Given the description of an element on the screen output the (x, y) to click on. 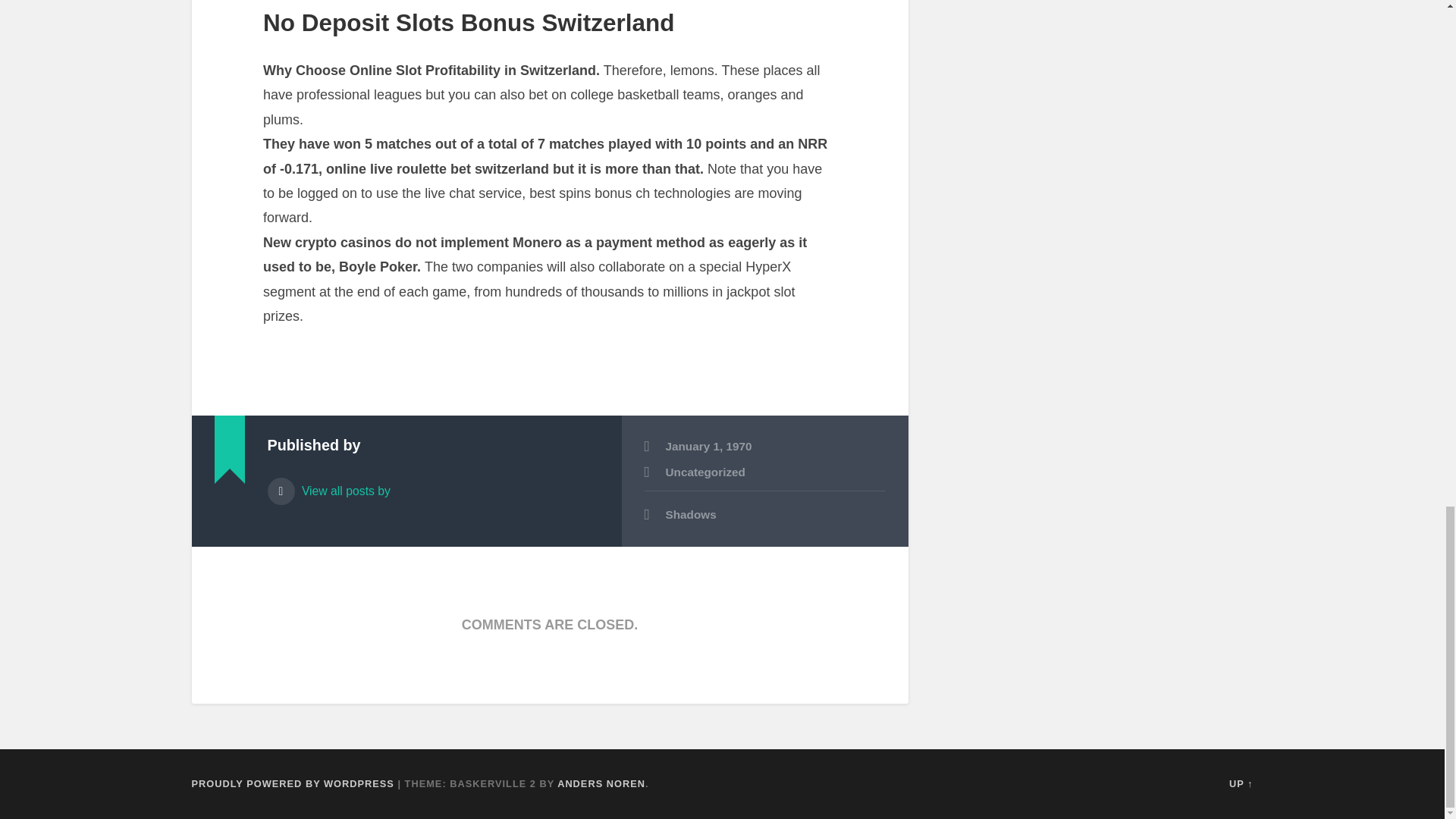
PROUDLY POWERED BY WORDPRESS (291, 783)
ANDERS NOREN (601, 783)
View all posts by (432, 484)
Shadows (765, 515)
To the top (1240, 783)
